Given the description of an element on the screen output the (x, y) to click on. 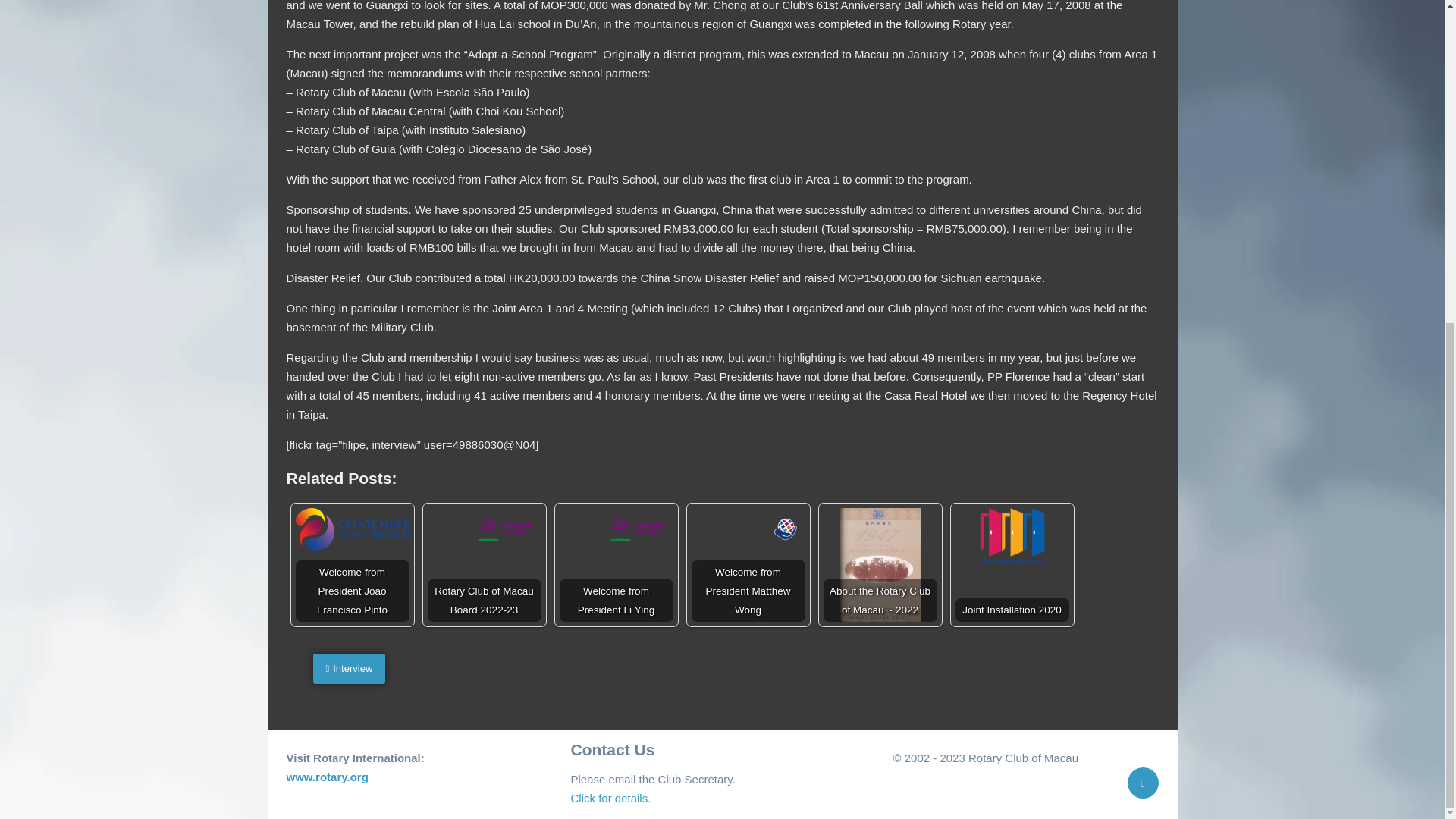
www.rotary.org (327, 776)
www.rotary.org (327, 776)
Interview (349, 668)
Welcome from President Matthew Wong (748, 564)
Click for details (608, 797)
Rotary Club of Macau Board 2022-23 (484, 564)
Joint Installation 2020 (1011, 564)
Rotary Club of Macau Board 2022-23 (484, 526)
Welcome from President Li Ying (615, 526)
Welcome from President Matthew Wong (748, 526)
Interview (349, 668)
Joint Installation 2020 (1011, 536)
Welcome from President Li Ying (615, 564)
